Given the description of an element on the screen output the (x, y) to click on. 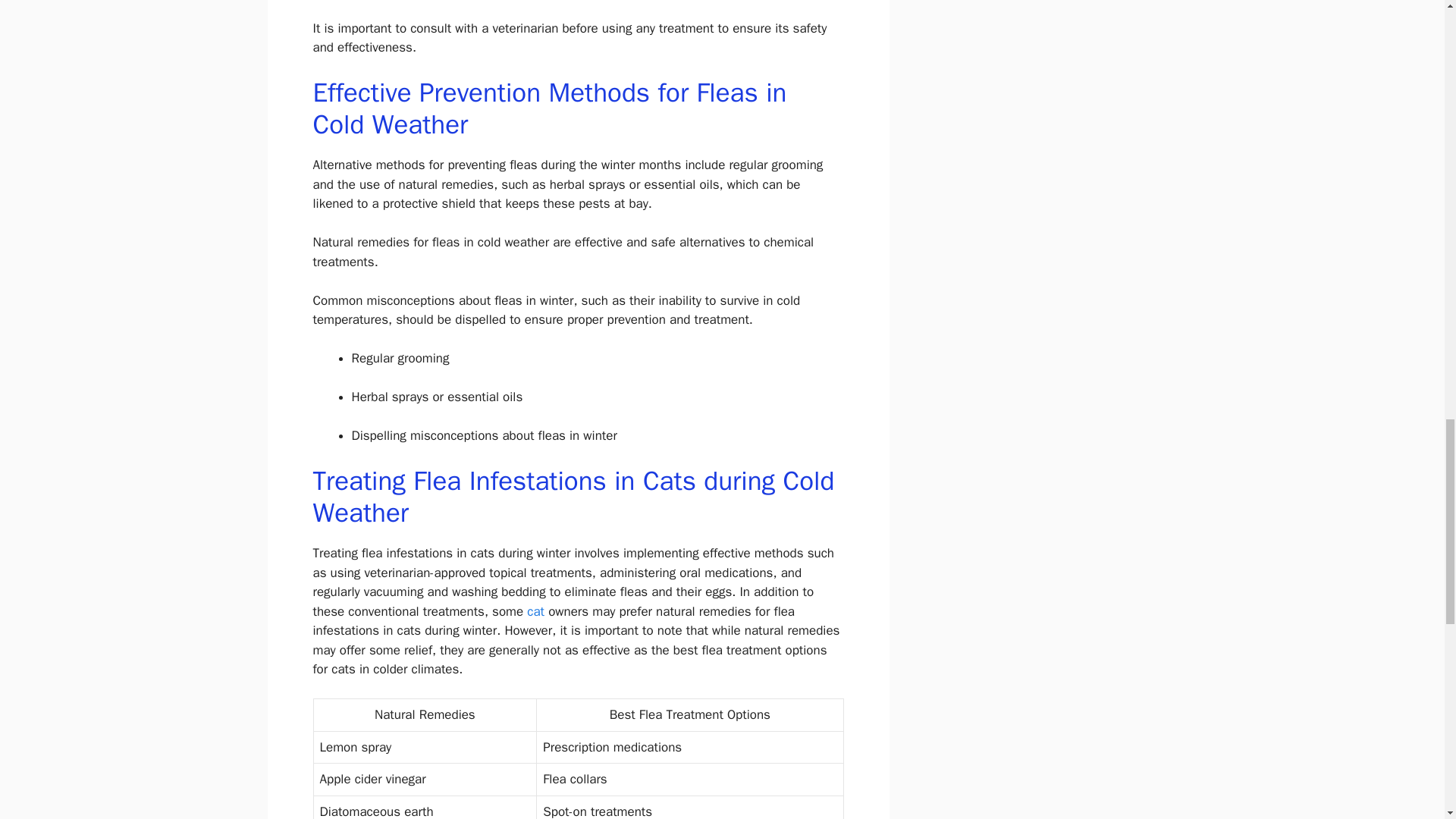
cat (535, 611)
cat (535, 611)
